Given the description of an element on the screen output the (x, y) to click on. 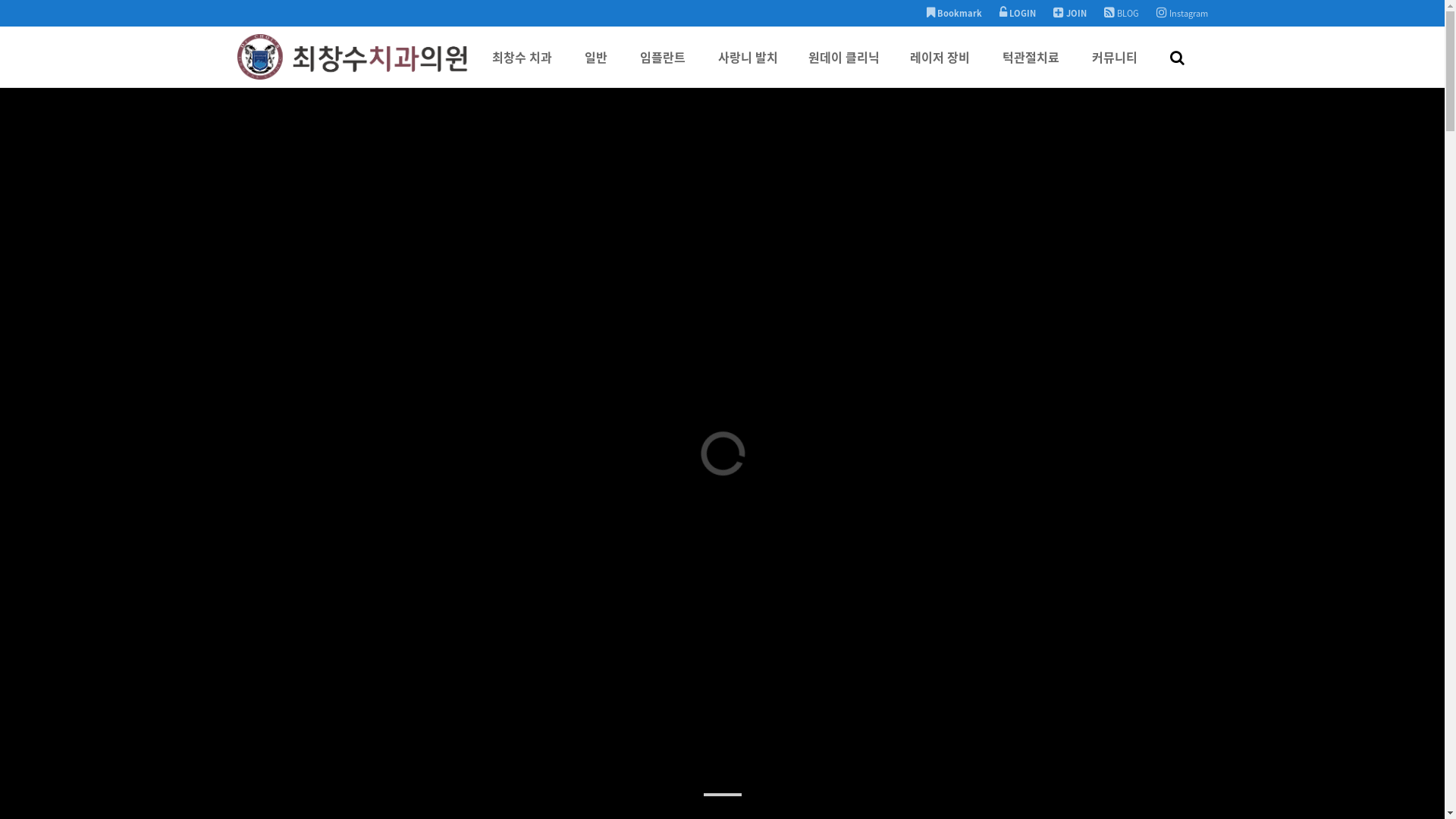
JOIN Element type: text (1068, 13)
Bookmark Element type: text (954, 13)
LOGIN Element type: text (1017, 13)
1 Element type: text (722, 794)
Instagram Element type: text (1181, 13)
BLOG Element type: text (1121, 13)
